Given the description of an element on the screen output the (x, y) to click on. 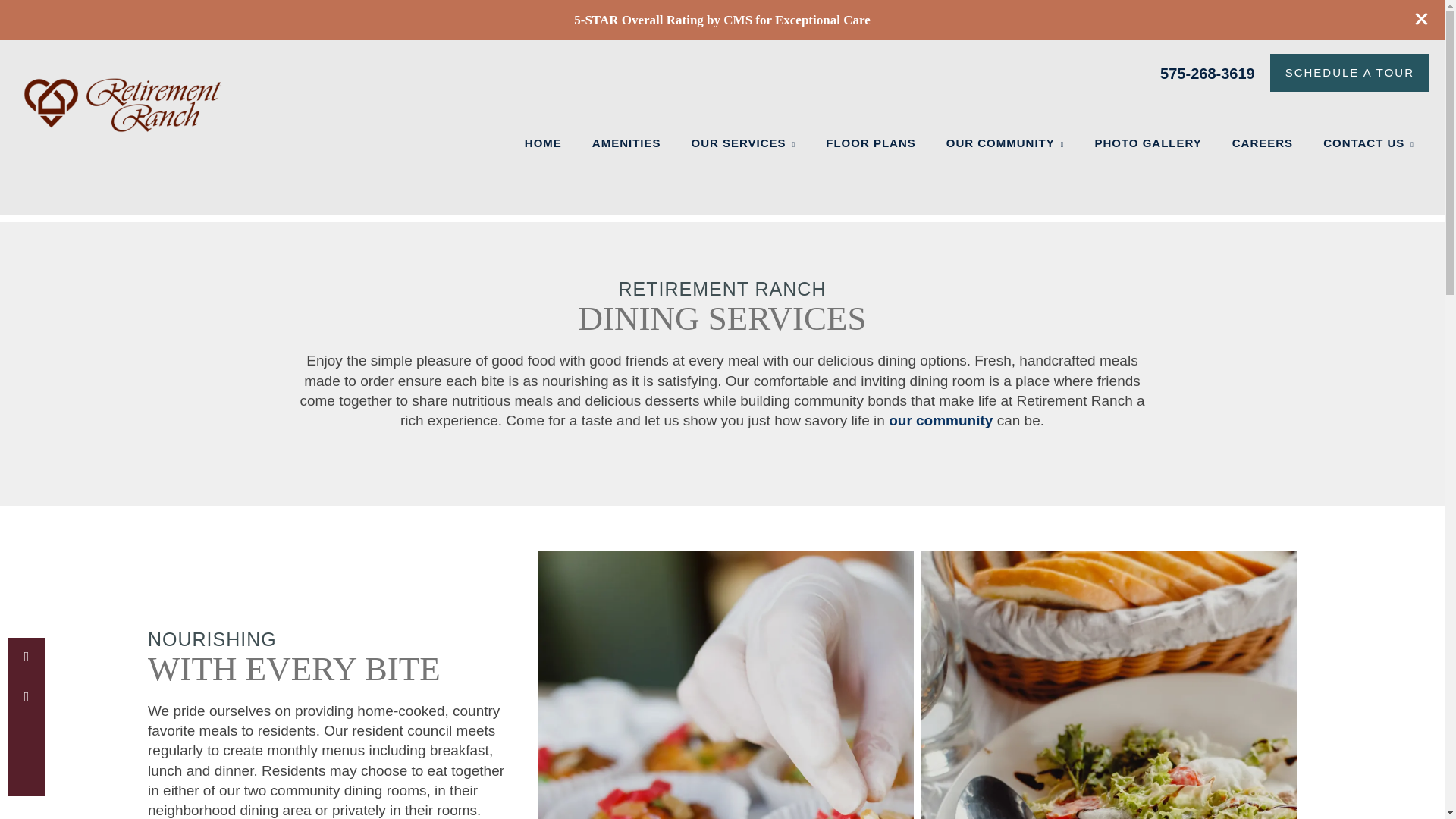
OUR COMMUNITY (1005, 142)
AMENITIES (626, 142)
Phone Number (26, 656)
OUR SERVICES (743, 142)
Scroll Down (26, 777)
SCHEDULE A TOUR (1349, 72)
Scroll Up (26, 736)
PHOTO GALLERY (1146, 142)
CONTACT US (1368, 142)
CAREERS (1262, 142)
